Given the description of an element on the screen output the (x, y) to click on. 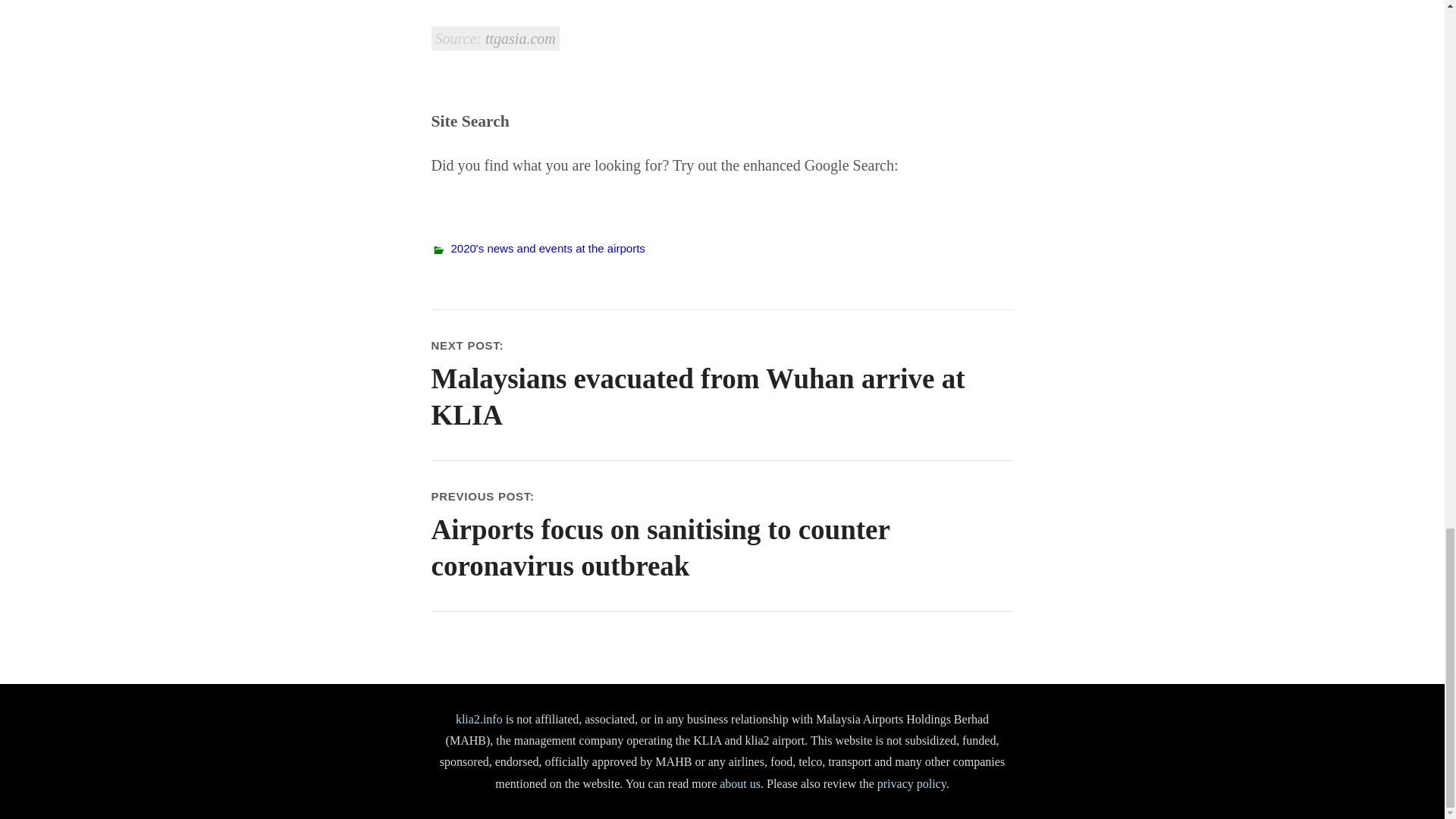
2020's news and events at the airports (547, 247)
about us (739, 783)
klia2.info (478, 718)
ttgasia.com (520, 38)
privacy policy (911, 783)
